Given the description of an element on the screen output the (x, y) to click on. 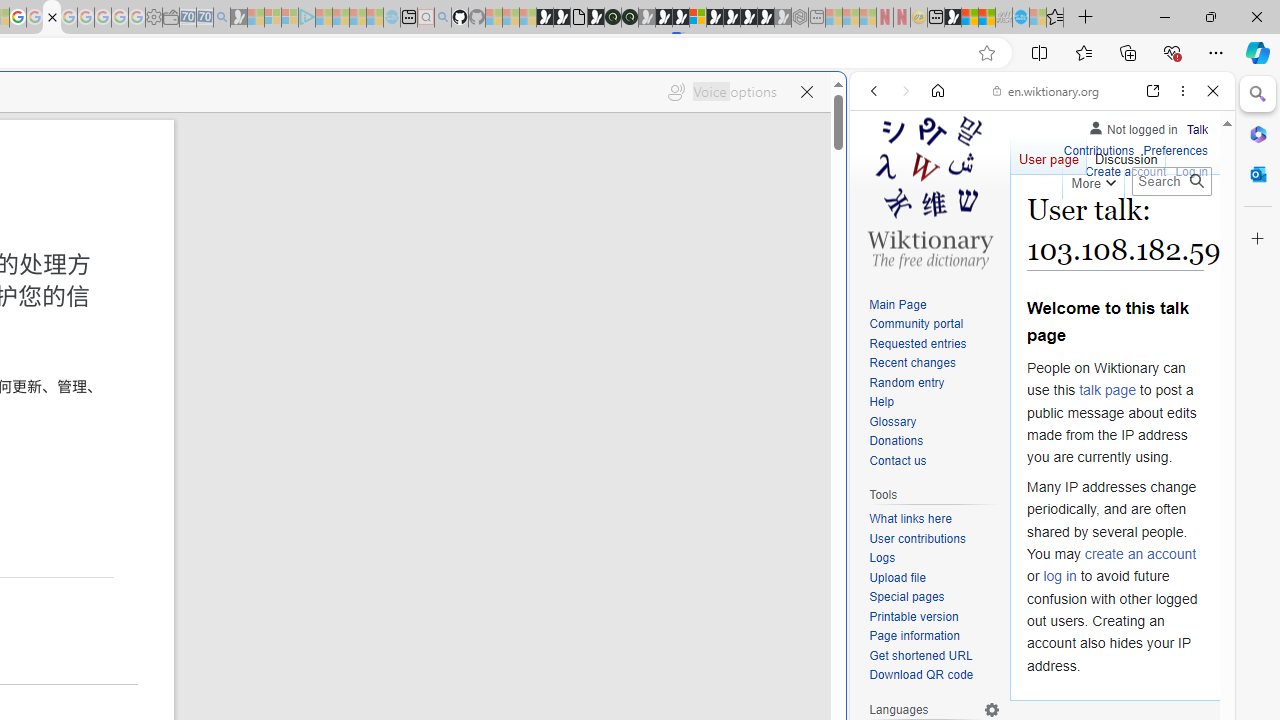
Frequently visited (418, 265)
Language settings (992, 709)
Random entry (934, 382)
Earth has six continents not seven, radical new study claims (986, 17)
Page information (914, 636)
What links here (910, 519)
Contact us (897, 460)
Play Zoo Boom in your browser | Games from Microsoft Start (561, 17)
Upload file (934, 578)
Log in (1191, 172)
